Given the description of an element on the screen output the (x, y) to click on. 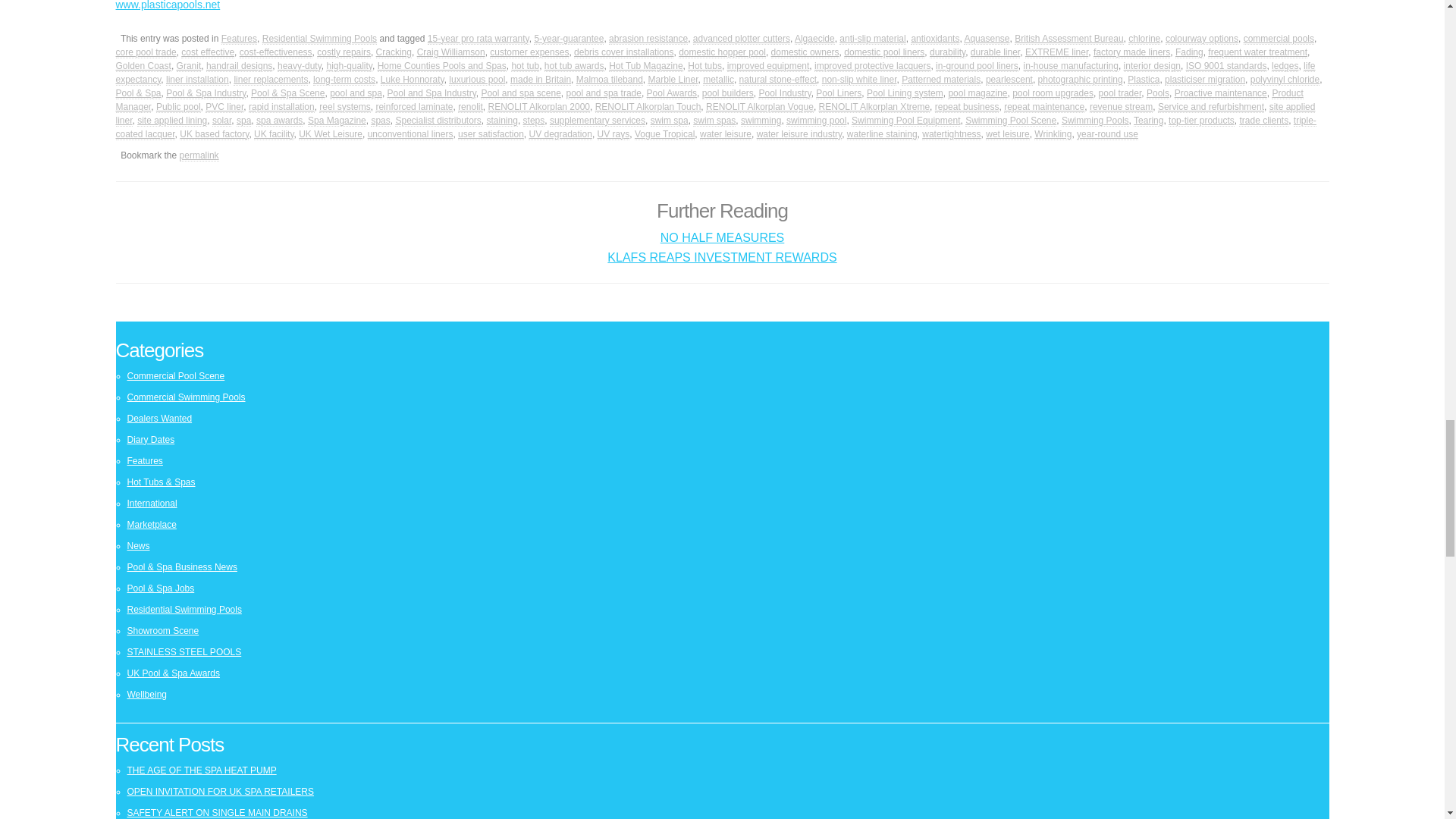
5-year-guarantee (569, 39)
abrasion resistance (647, 39)
British Assessment Bureau (1068, 39)
antioxidants (935, 39)
core pool trade (145, 52)
cost-effectiveness (276, 52)
www.plasticapools.net (167, 5)
colourway options (1202, 39)
anti-slip material (872, 39)
advanced plotter cutters (741, 39)
